Given the description of an element on the screen output the (x, y) to click on. 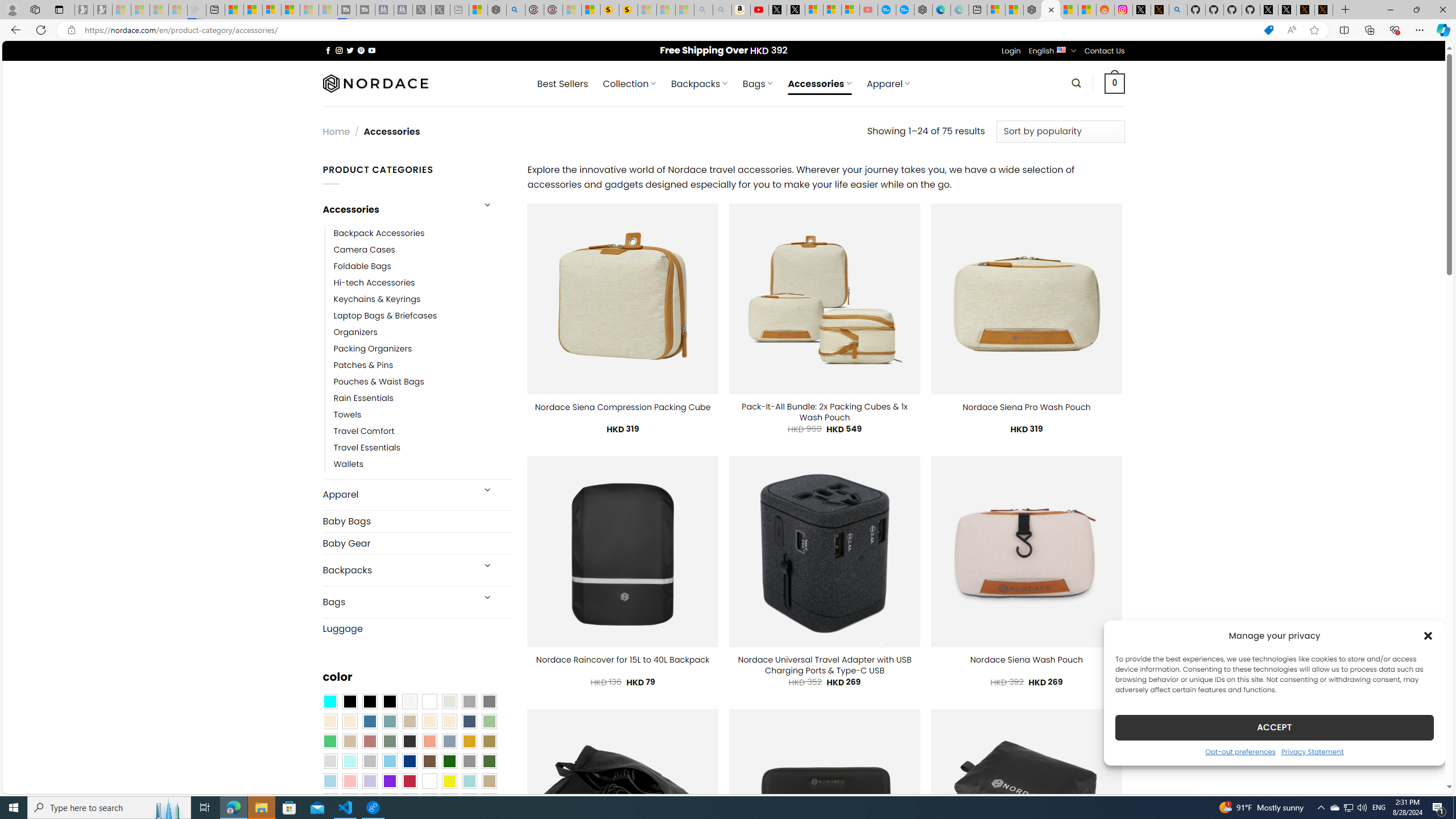
Hi-tech Accessories (422, 282)
Kelp (488, 741)
Accessories (397, 209)
Light Taupe (349, 741)
Towels (347, 415)
Rose (369, 741)
Microsoft account | Microsoft Account Privacy Settings (996, 9)
Brownie (408, 721)
Apparel (397, 494)
Pouches & Waist Bags (378, 381)
The most popular Google 'how to' searches (904, 9)
Gloom - YouTube - Sleeping (868, 9)
